Given the description of an element on the screen output the (x, y) to click on. 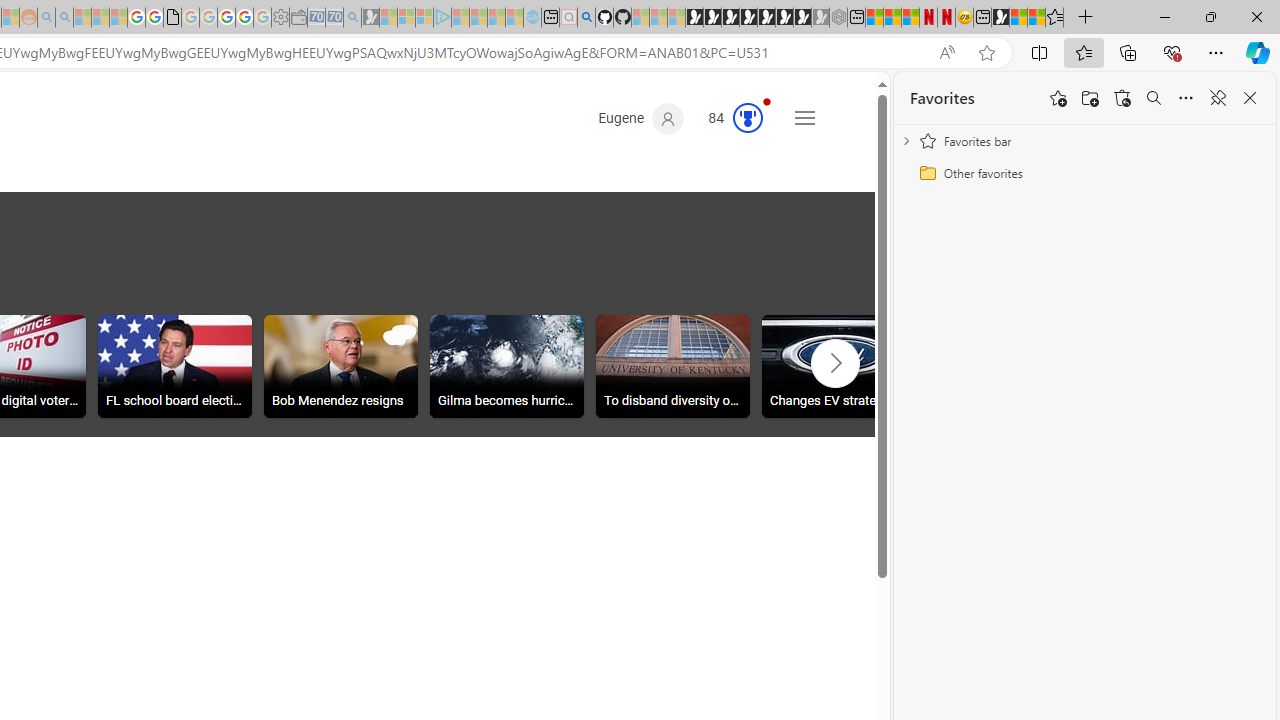
Changes EV strategy (838, 369)
Close favorites (1250, 98)
Add this page to favorites (1058, 98)
AutomationID: rh_meter (748, 117)
